Given the description of an element on the screen output the (x, y) to click on. 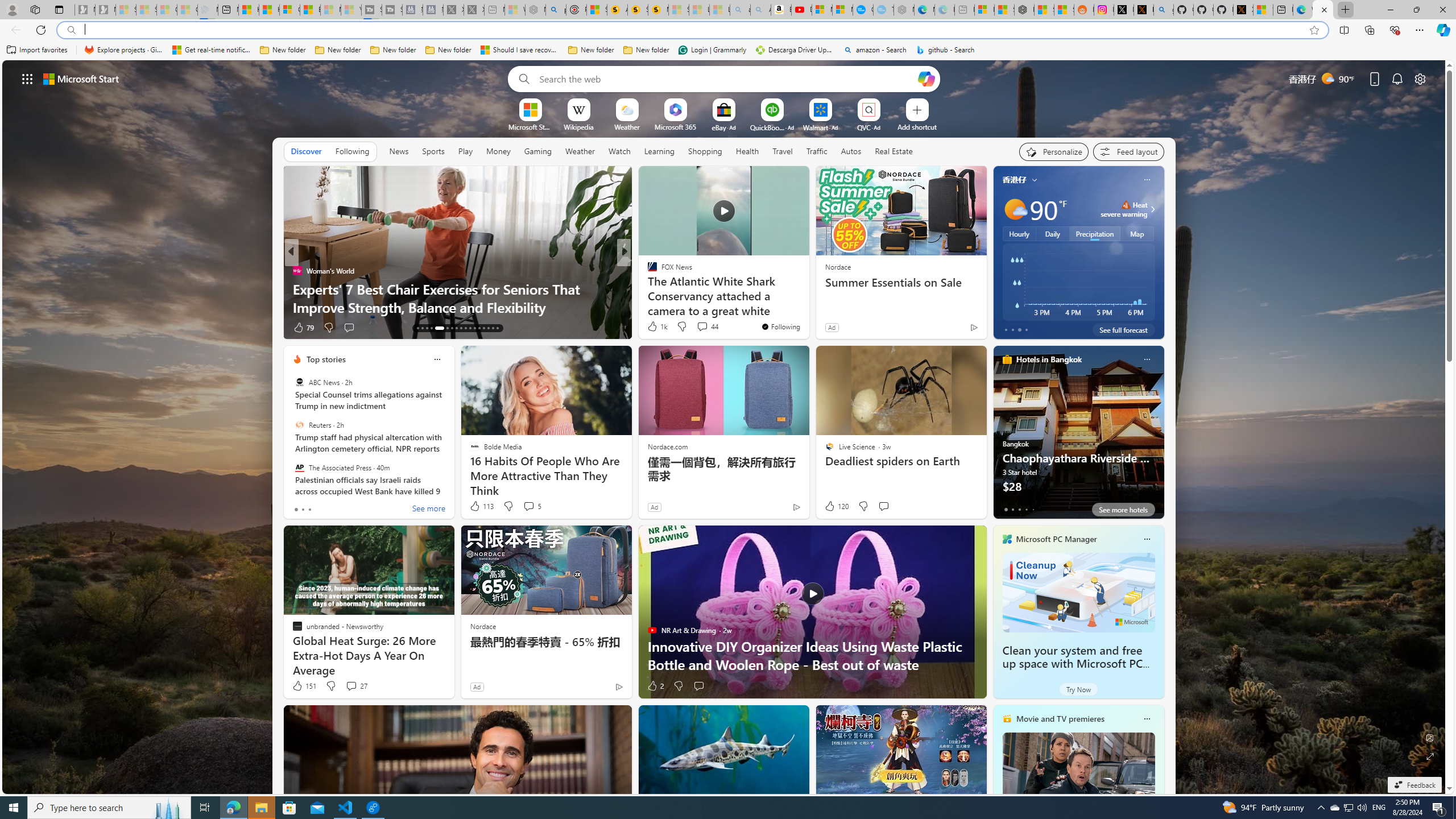
X - Sleeping (473, 9)
Expand background (1430, 756)
21 Like (652, 327)
AutomationID: tab-19 (451, 328)
View comments 5 Comment (532, 505)
Play (465, 151)
View comments 27 Comment (355, 685)
Add this page to favorites (Ctrl+D) (1314, 29)
Traffic (816, 151)
Nordace - Nordace has arrived Hong Kong - Sleeping (903, 9)
Men Share The 14 Unspoken Rules for Successful Marriage (807, 298)
CNBC (647, 270)
Gaming (537, 151)
